Given the description of an element on the screen output the (x, y) to click on. 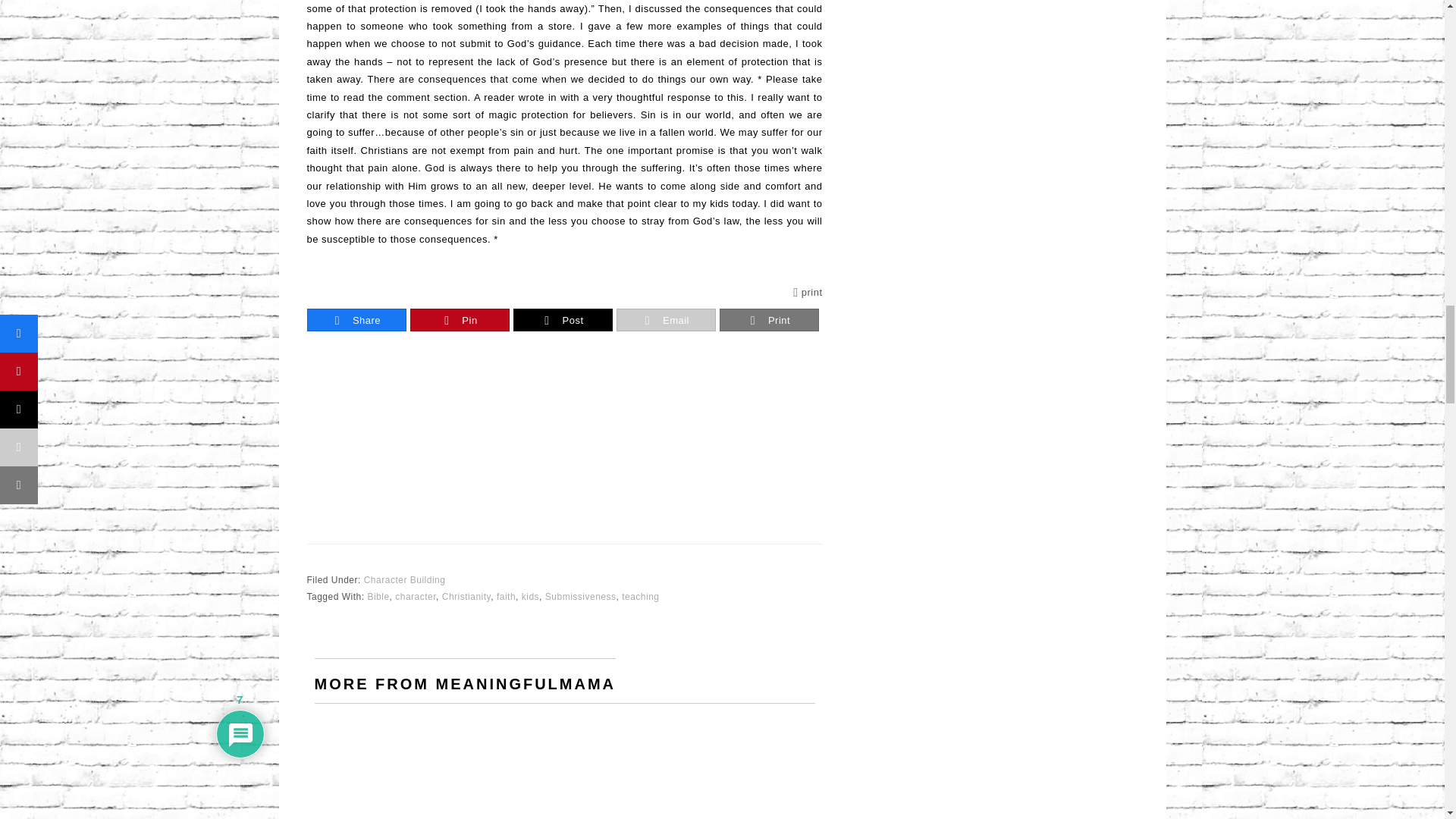
Permanent Link to Mosaic Cross Craft for Easter (392, 742)
